Given the description of an element on the screen output the (x, y) to click on. 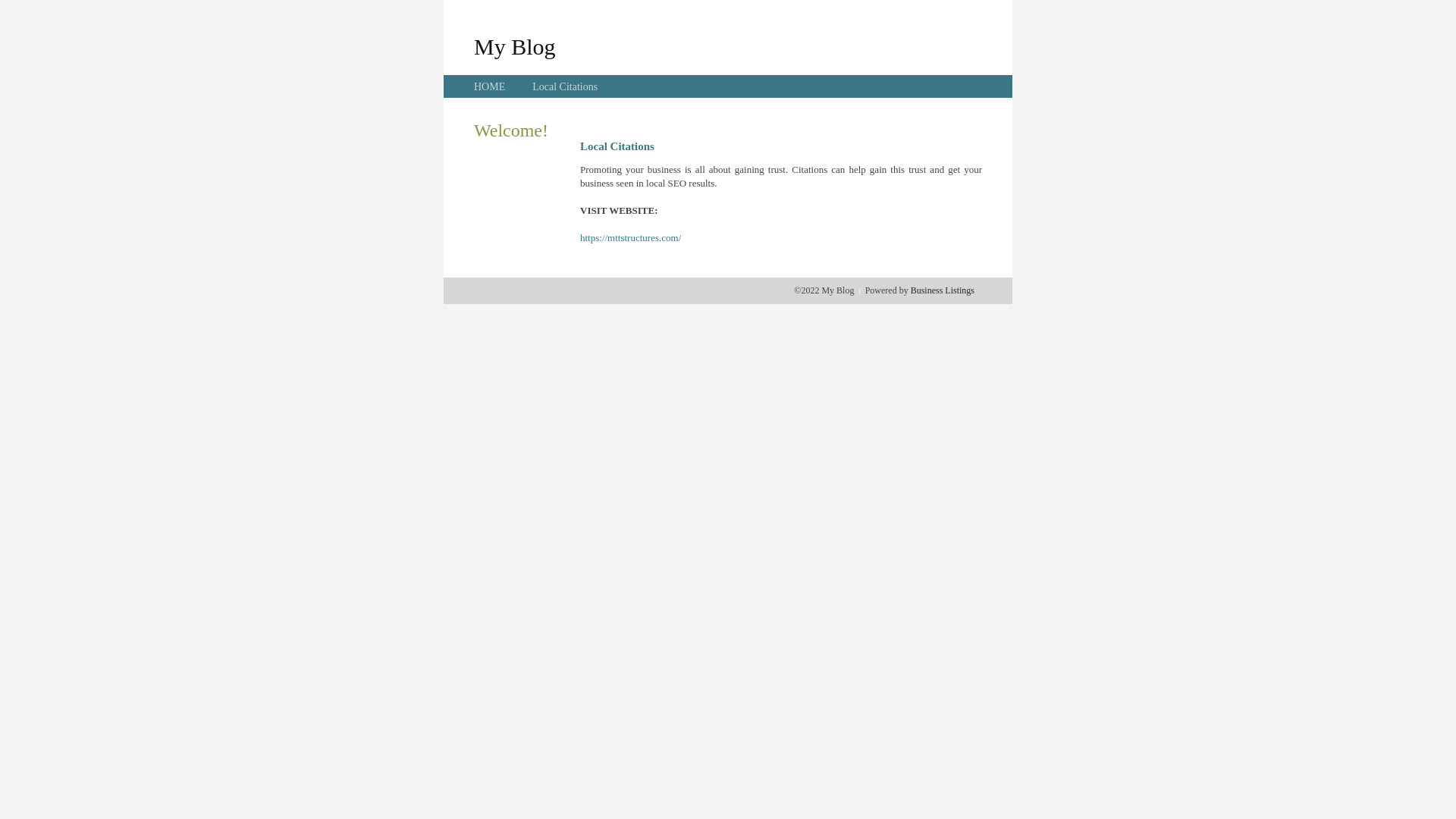
Business Listings Element type: text (942, 290)
My Blog Element type: text (514, 46)
https://mttstructures.com/ Element type: text (630, 237)
Local Citations Element type: text (564, 86)
HOME Element type: text (489, 86)
